Given the description of an element on the screen output the (x, y) to click on. 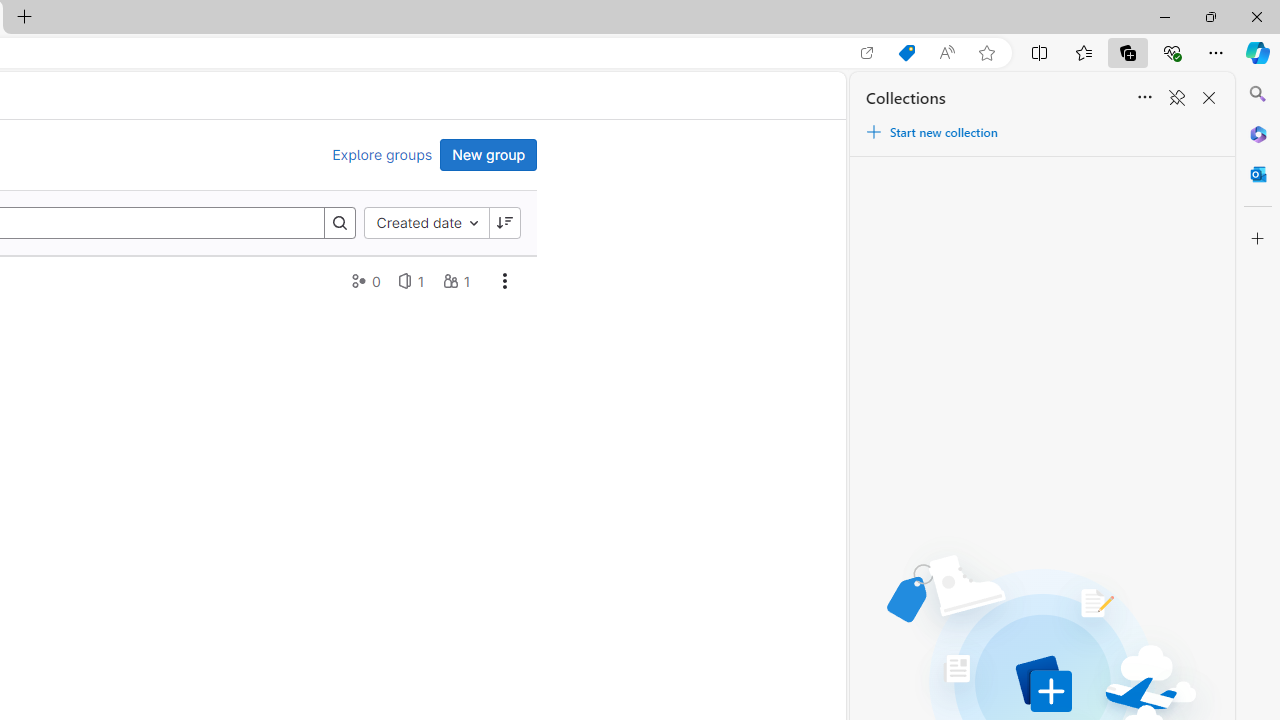
Open in app (867, 53)
Unpin Collections (1176, 98)
Sort (1144, 98)
AutomationID: dropdown-toggle-btn-41 (504, 280)
New group (488, 154)
